Given the description of an element on the screen output the (x, y) to click on. 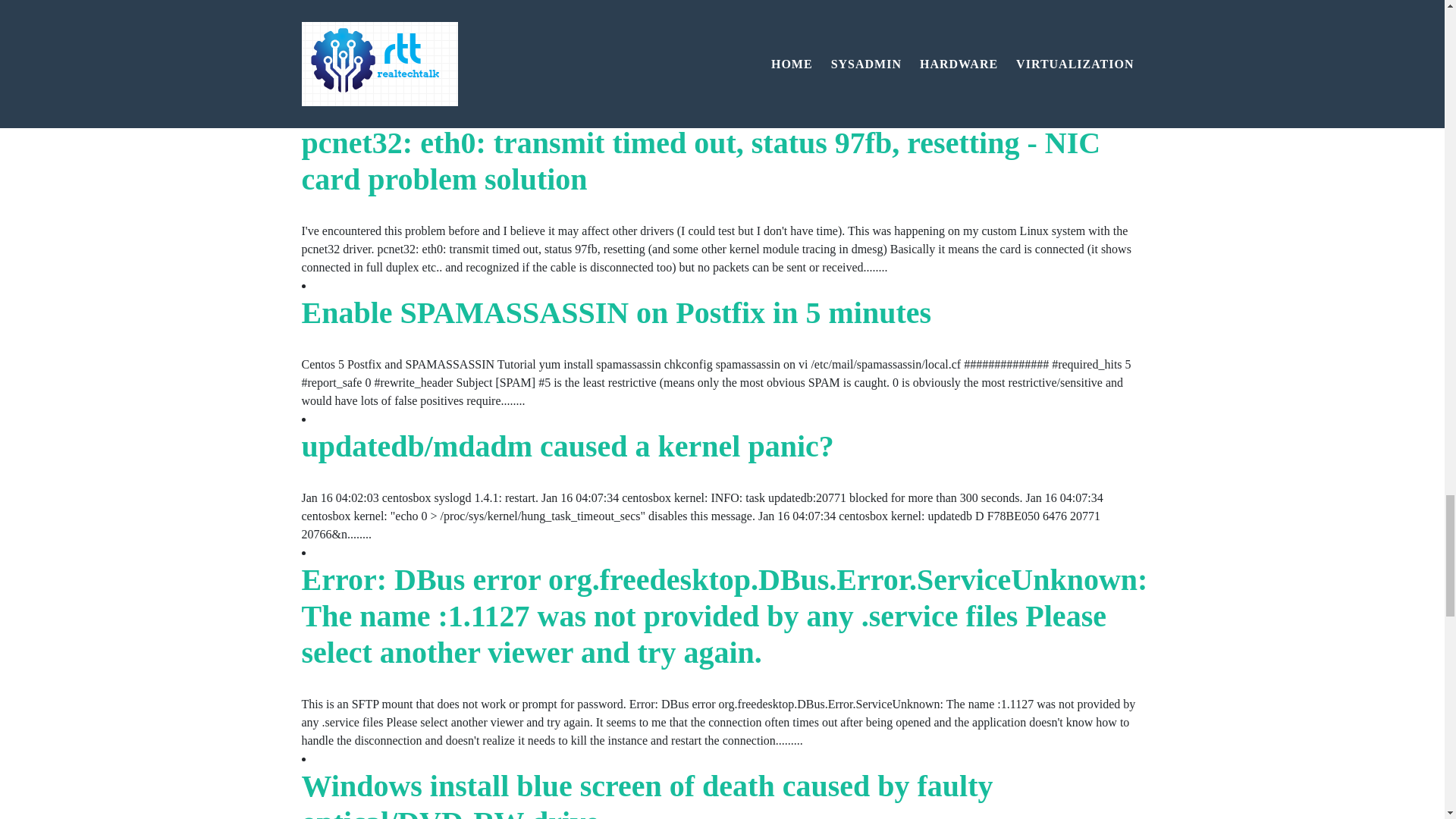
Enable SPAMASSASSIN on Postfix in 5 minutes (616, 312)
Samsung Galaxy Note Ubuntu Linux USB Connection Error (693, 13)
